Given the description of an element on the screen output the (x, y) to click on. 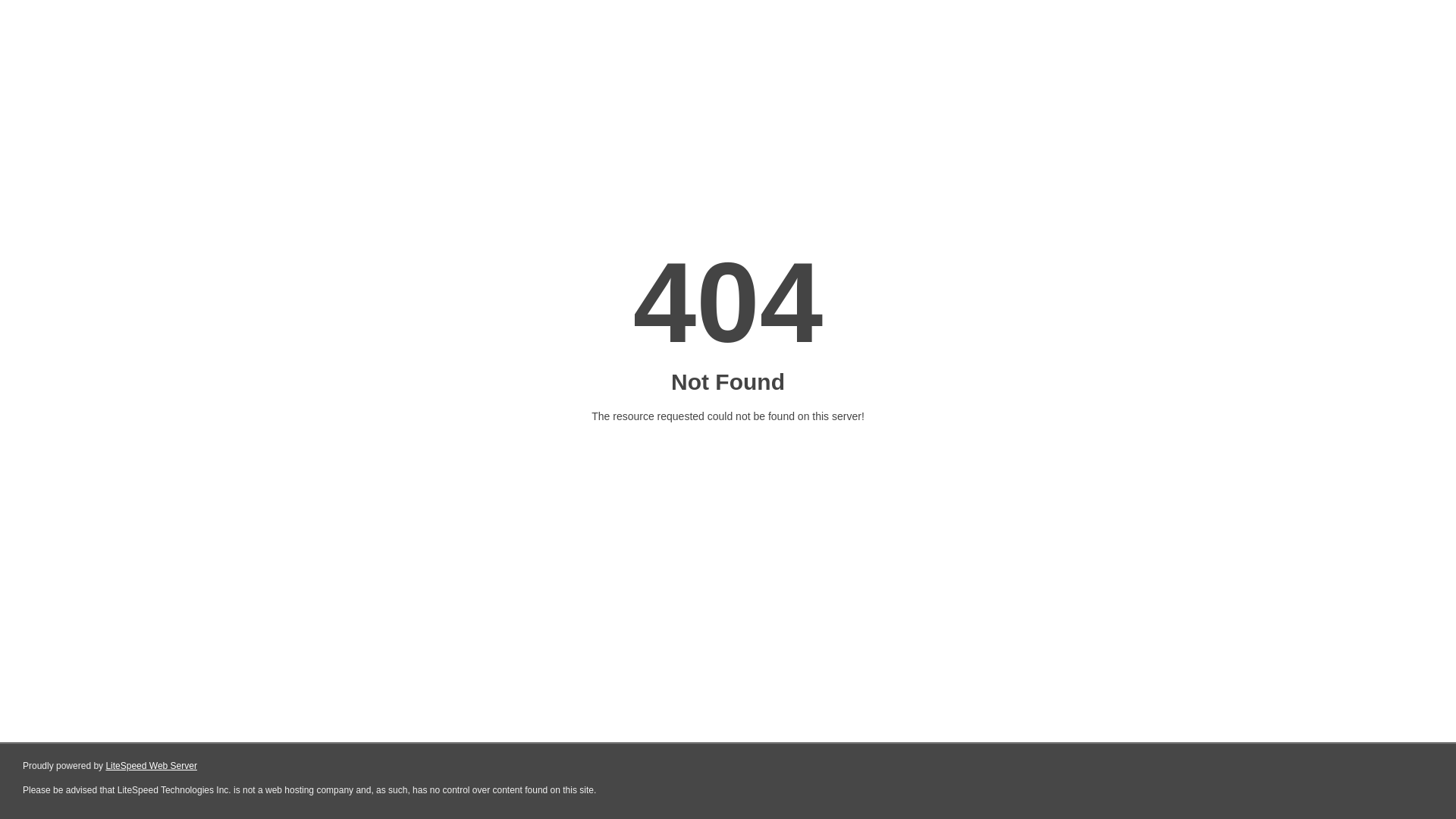
LiteSpeed Web Server Element type: text (151, 765)
